Given the description of an element on the screen output the (x, y) to click on. 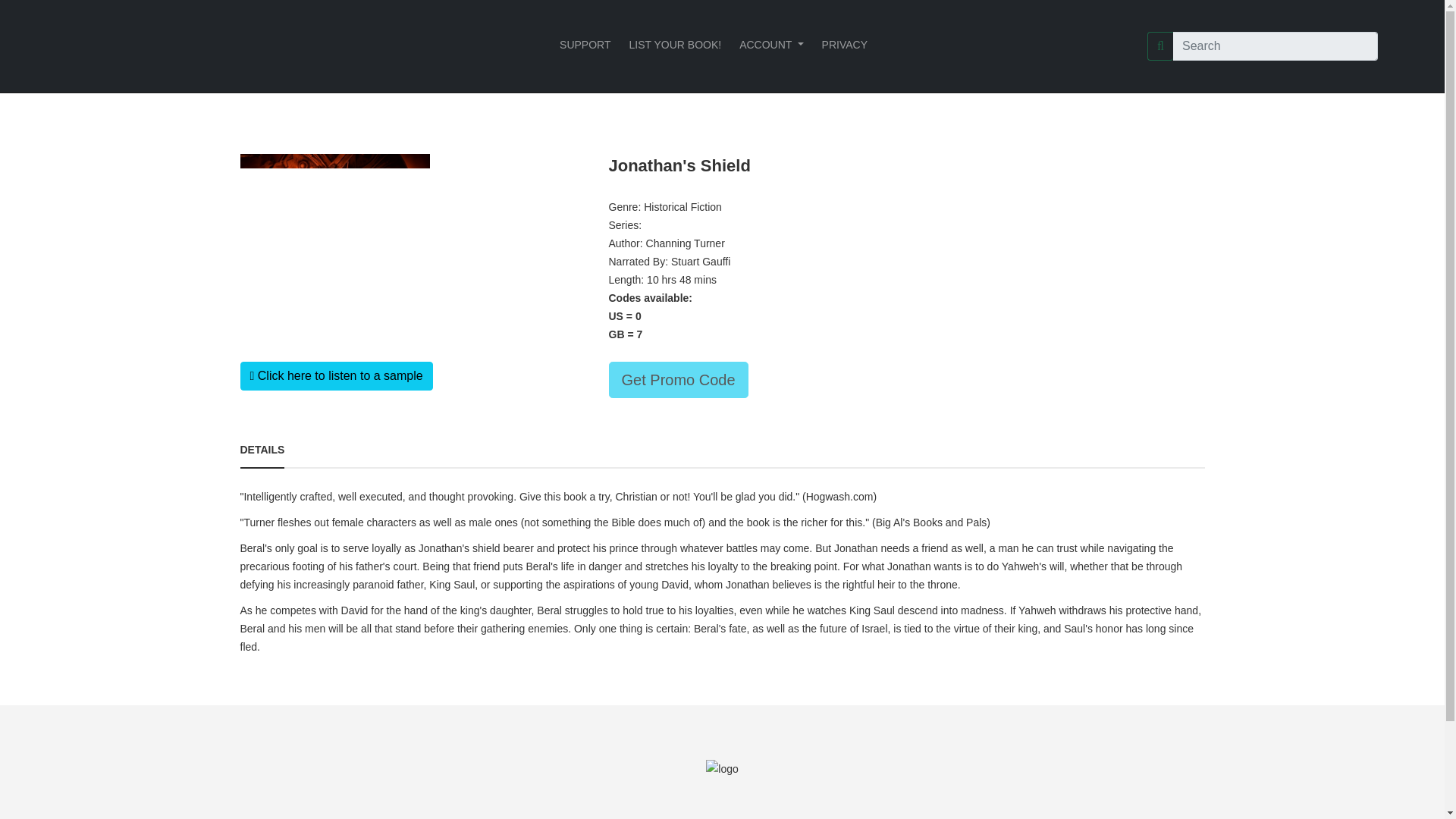
Channing Turner (685, 243)
Stuart Gauffi (700, 261)
Get Promo Code (678, 379)
Historical Fiction (682, 206)
PRIVACY (844, 44)
DETAILS (261, 449)
Click here to listen to a sample (336, 375)
ACCOUNT (771, 44)
SUPPORT (584, 44)
LIST YOUR BOOK! (675, 44)
